Given the description of an element on the screen output the (x, y) to click on. 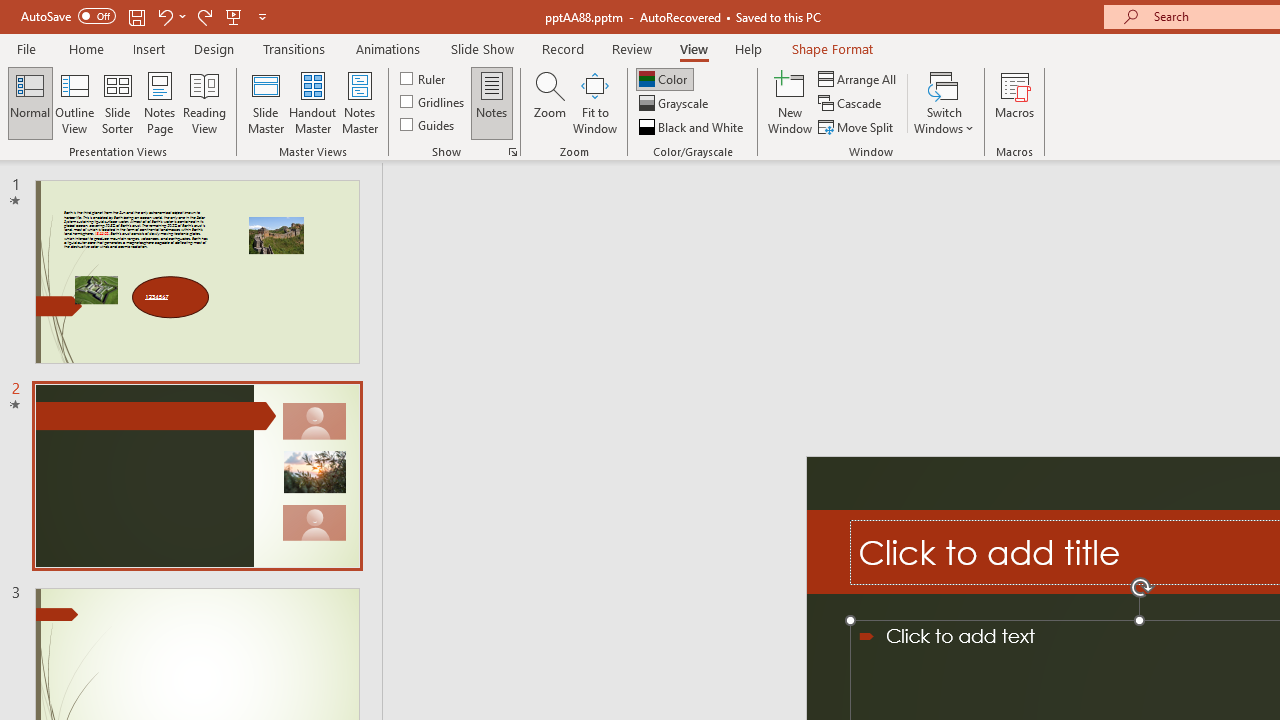
Grid Settings... (512, 151)
Handout Master (312, 102)
Color (664, 78)
